Given the description of an element on the screen output the (x, y) to click on. 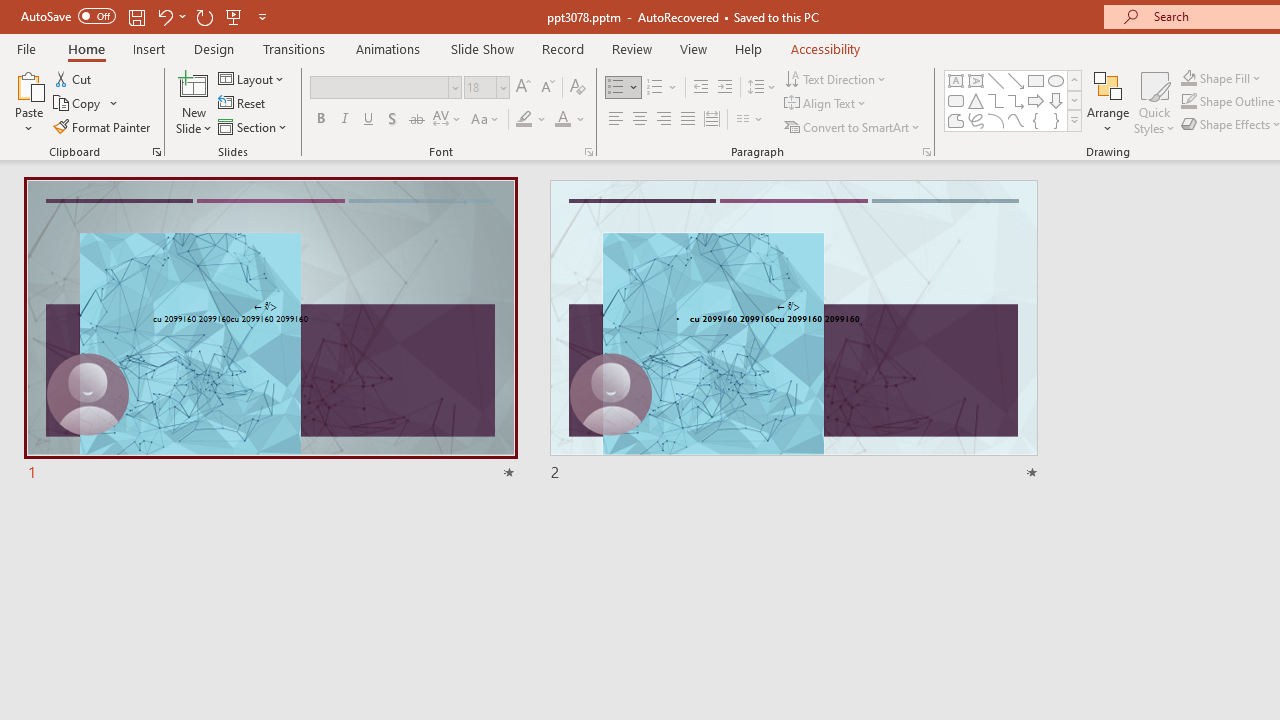
Layout (252, 78)
